Given the description of an element on the screen output the (x, y) to click on. 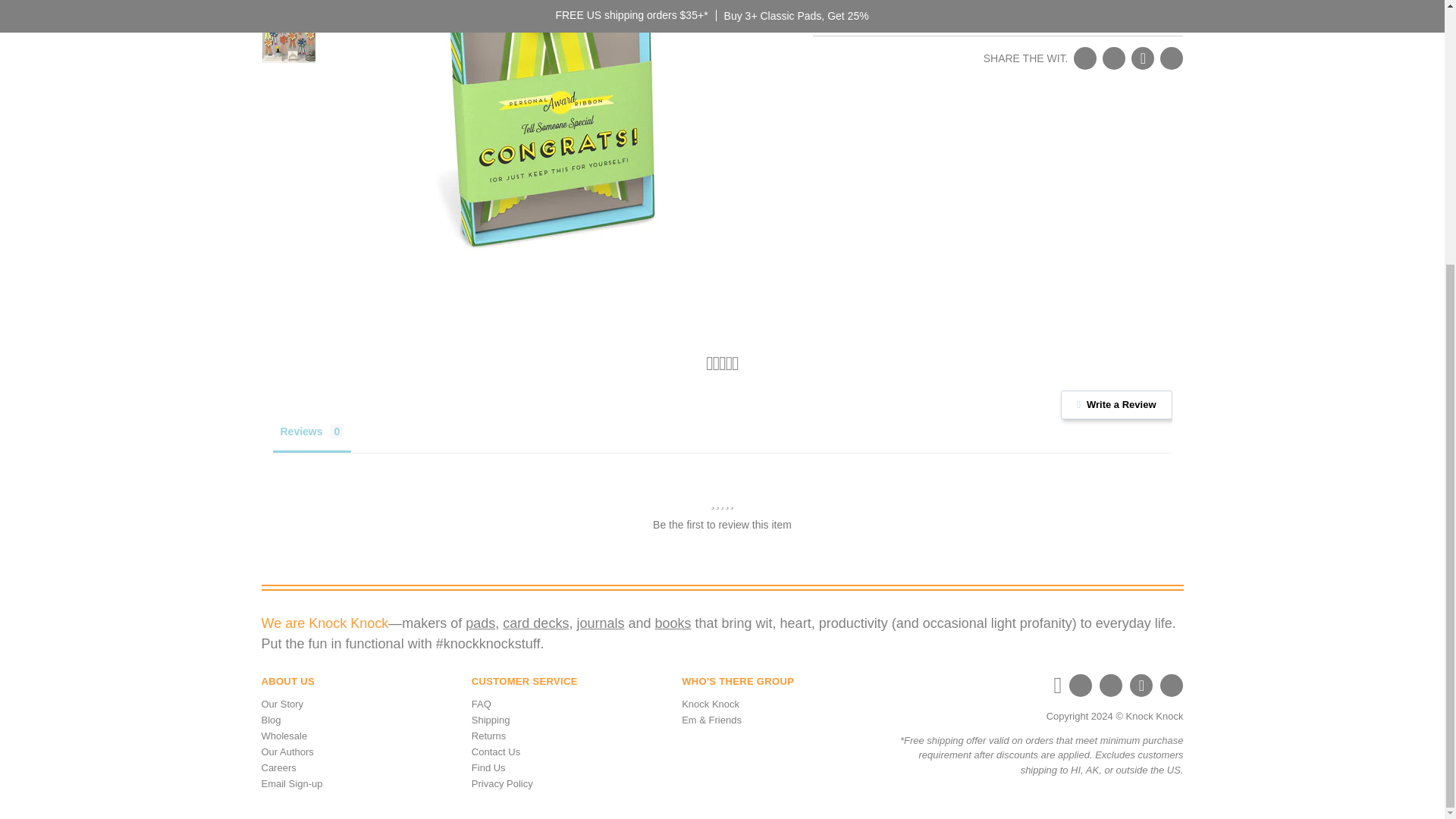
Notepads (480, 622)
Card Decks (535, 622)
Books (673, 622)
